Given the description of an element on the screen output the (x, y) to click on. 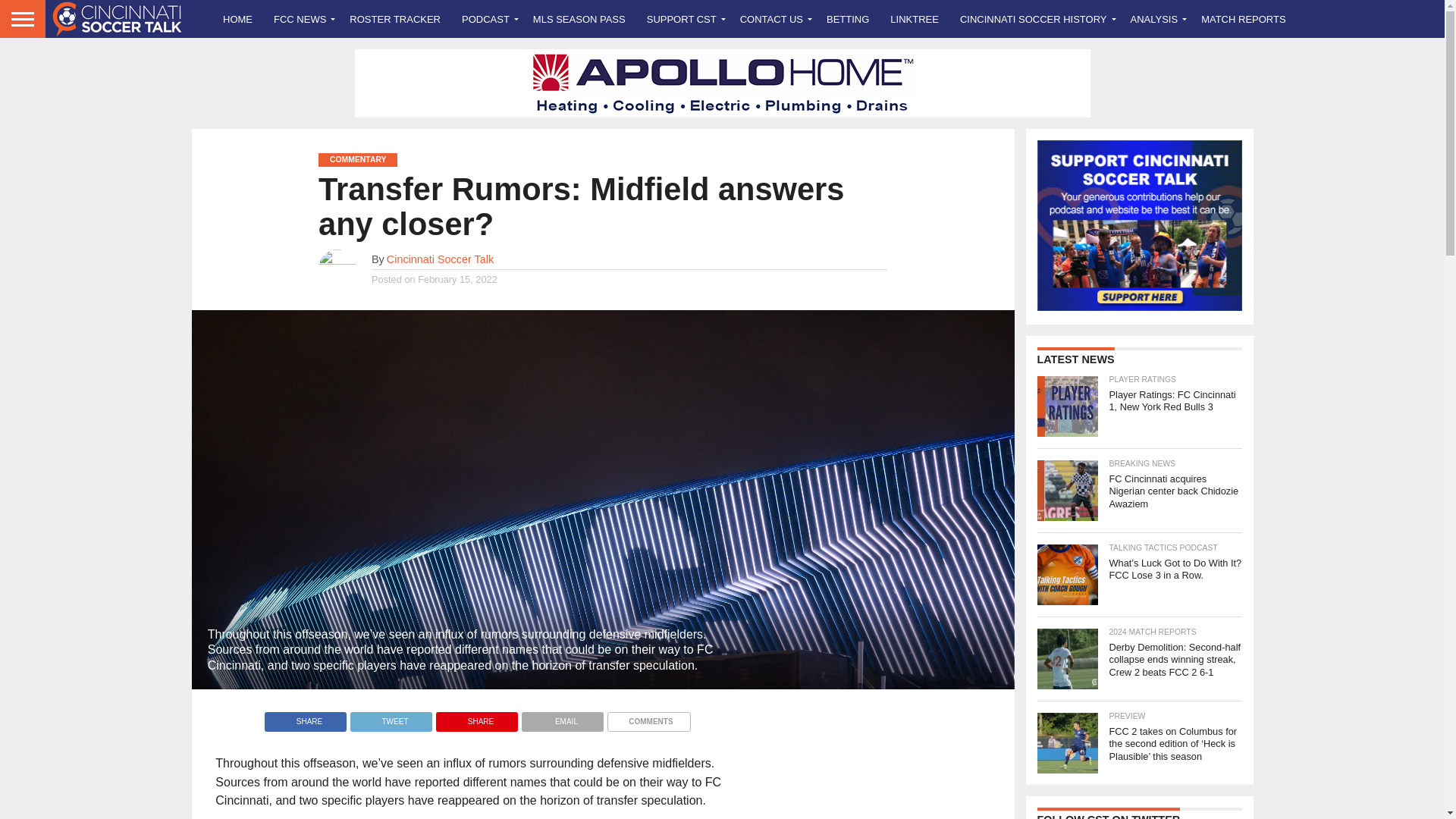
Posts by Cincinnati Soccer Talk (440, 259)
Tweet This Post (390, 717)
Share on Facebook (305, 717)
Pin This Post (476, 717)
